Given the description of an element on the screen output the (x, y) to click on. 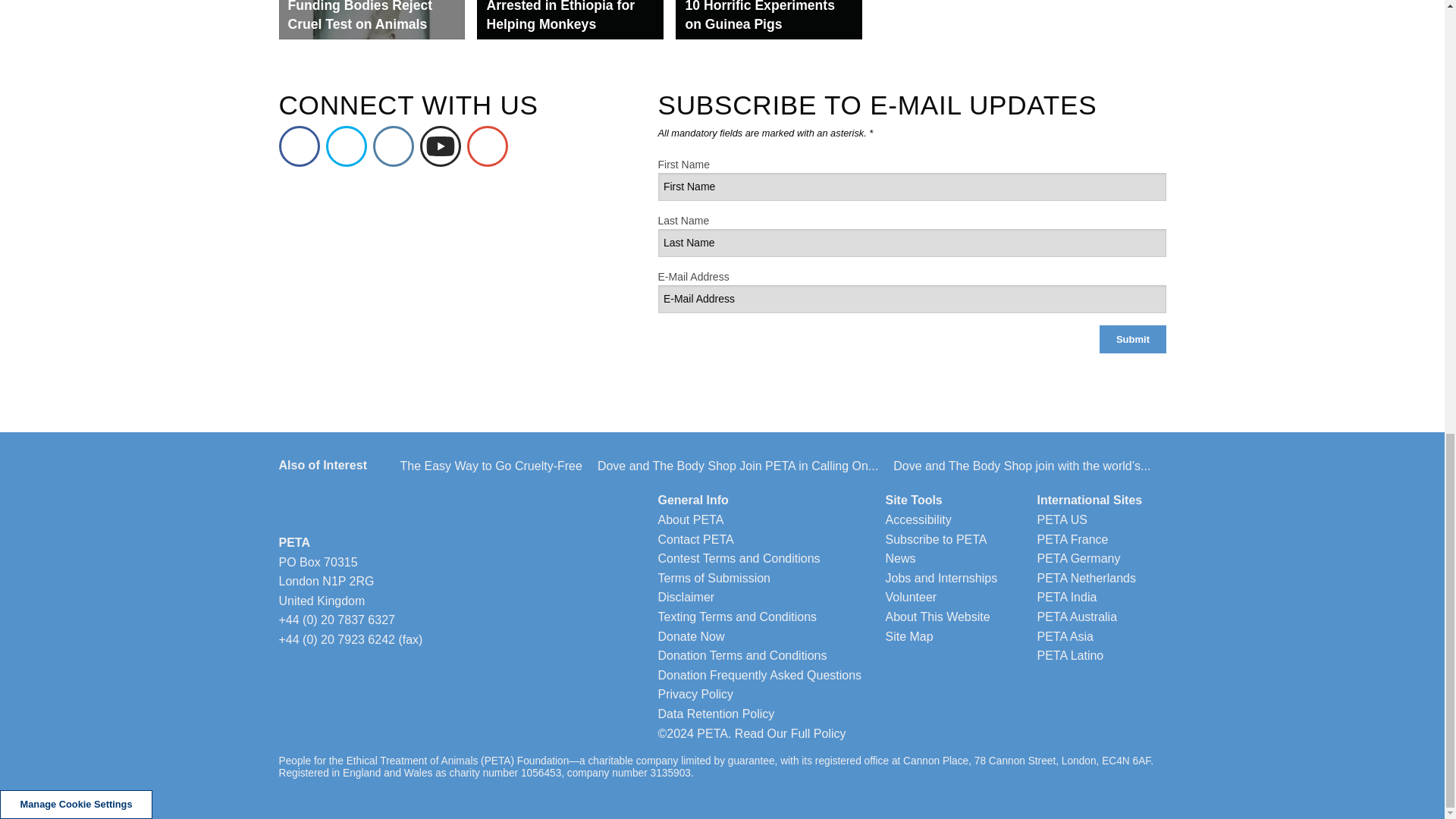
Submit (1132, 338)
